Given the description of an element on the screen output the (x, y) to click on. 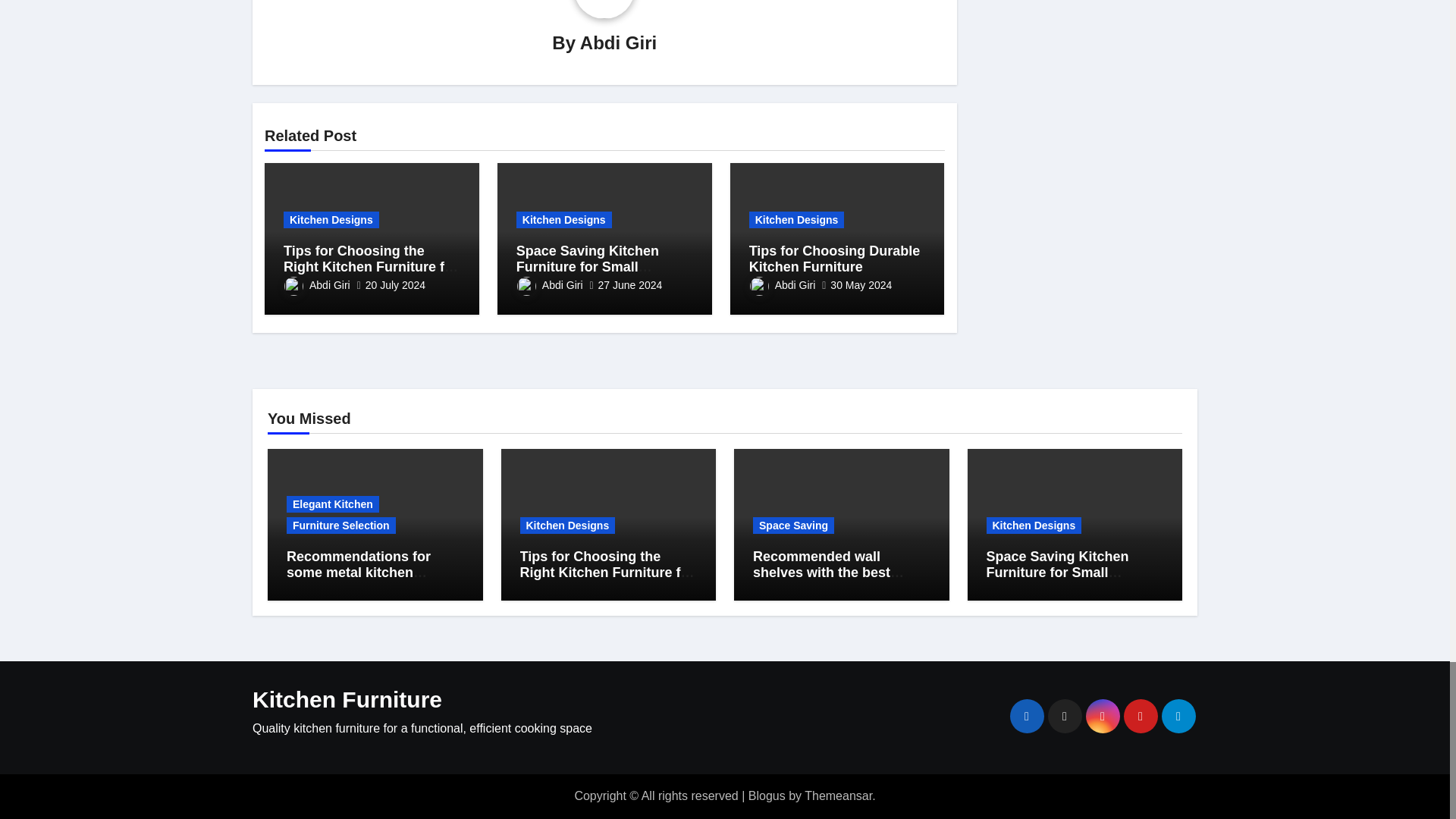
Permalink to: Recommended wall shelves with the best quality (828, 572)
Permalink to: Tips for Choosing Durable Kitchen Furniture (834, 259)
Abdi Giri (617, 42)
Kitchen Designs (330, 219)
